Given the description of an element on the screen output the (x, y) to click on. 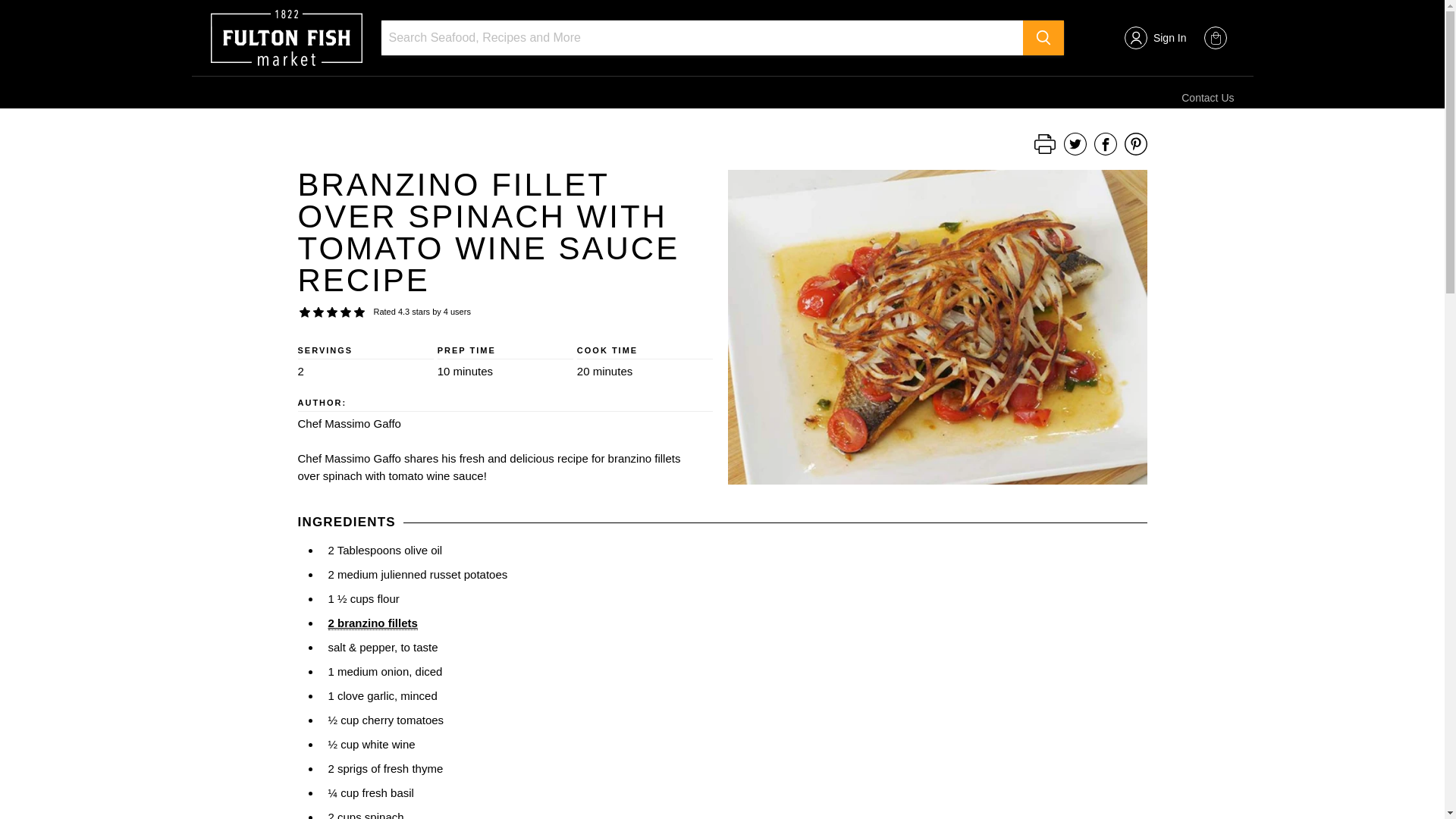
View cart (1215, 37)
Sign In (1169, 37)
